Given the description of an element on the screen output the (x, y) to click on. 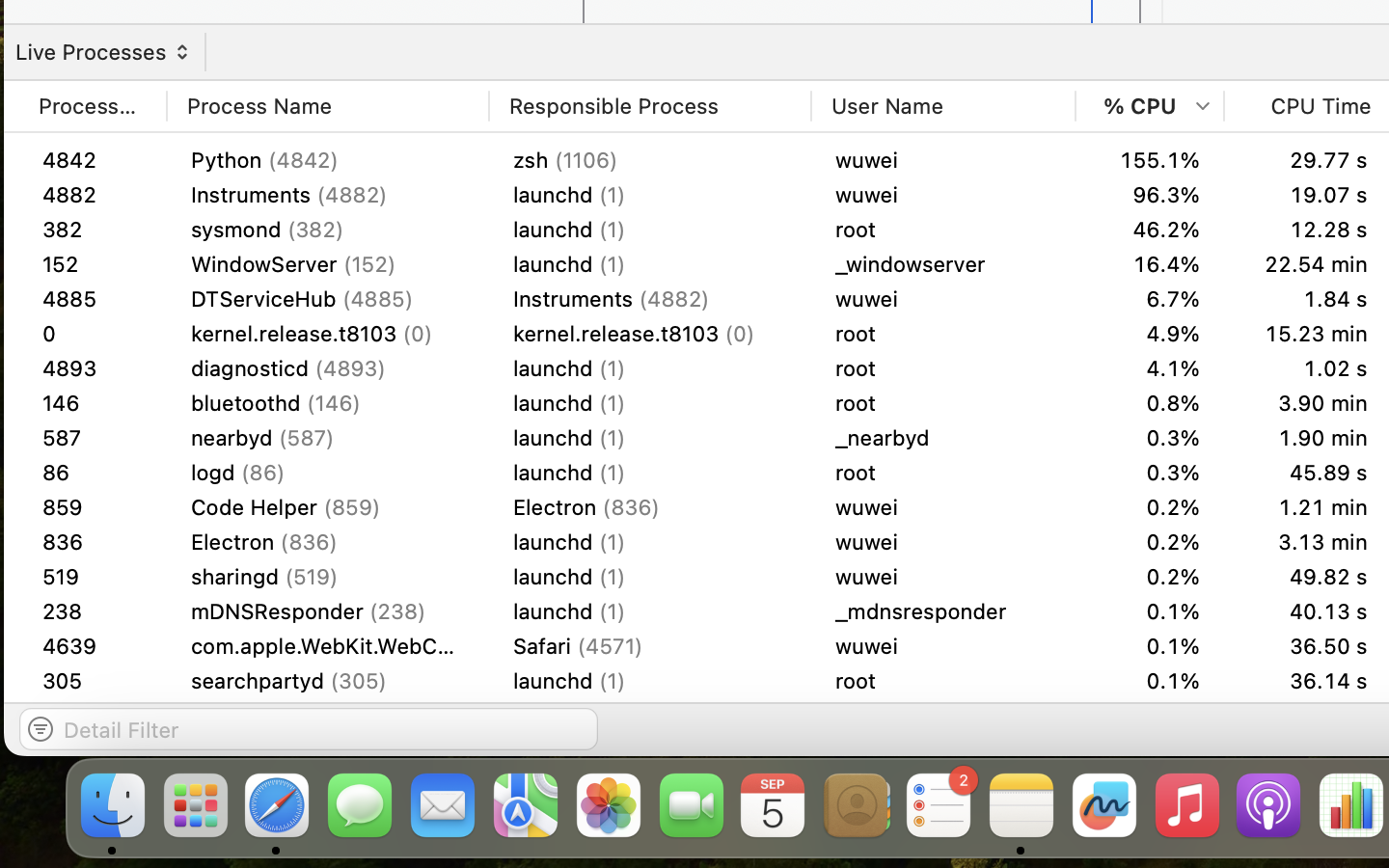
16.48 s Element type: AXStaticText (1307, 472)
com.apple.WebKit.WebContent (4639) Element type: AXStaticText (327, 715)
launchd (1) Element type: AXStaticText (649, 437)
nearbyd (587) Element type: AXStaticText (327, 472)
zsh (1106) Element type: AXStaticText (649, 159)
